Given the description of an element on the screen output the (x, y) to click on. 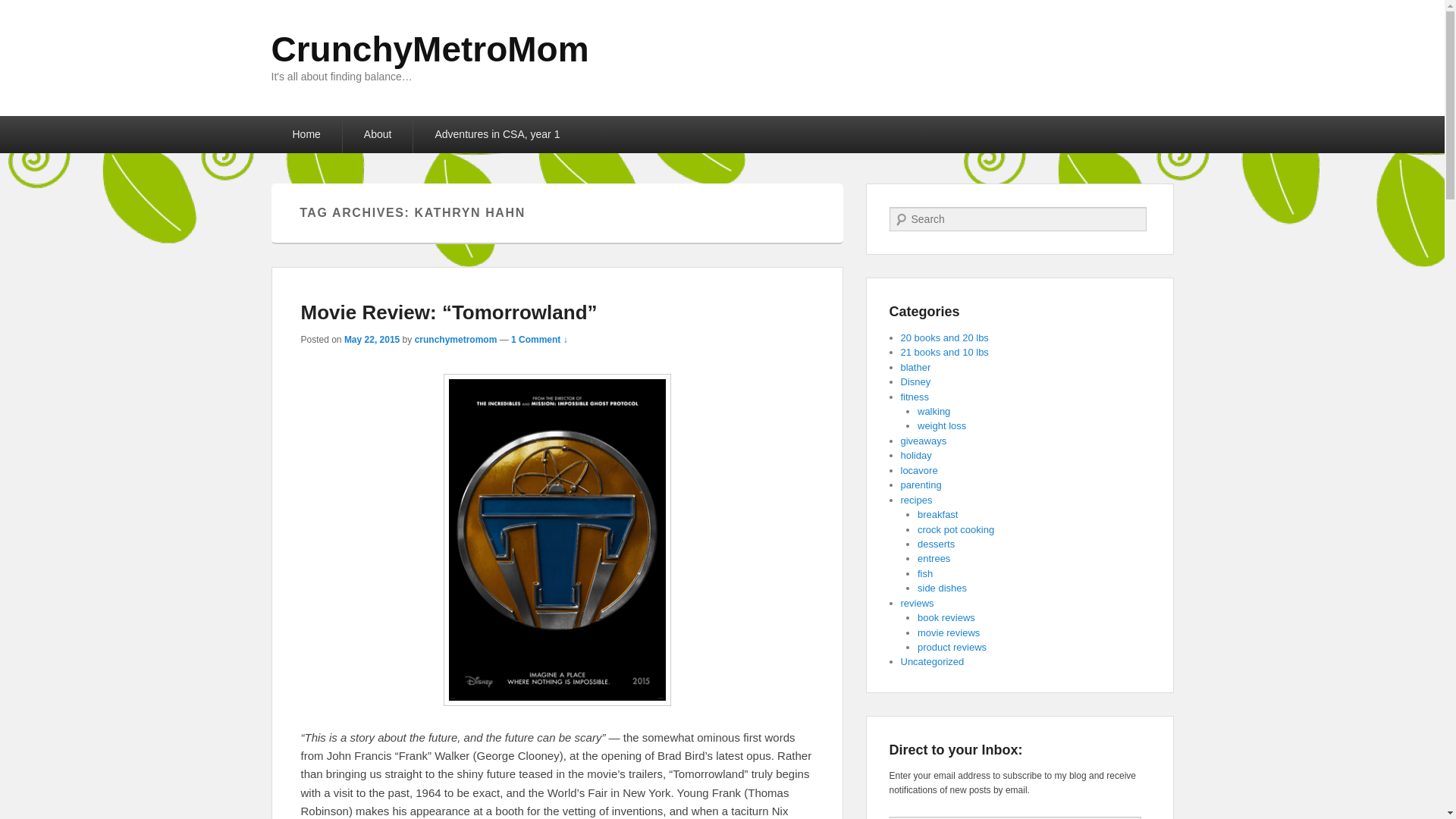
parenting (921, 484)
Skip to primary content (58, 125)
holiday (916, 455)
blather (916, 367)
View all posts by crunchymetromom (455, 339)
8:00 am (370, 339)
Disney (916, 381)
giveaways (924, 440)
20 books and 20 lbs (944, 337)
weight loss (941, 425)
